Given the description of an element on the screen output the (x, y) to click on. 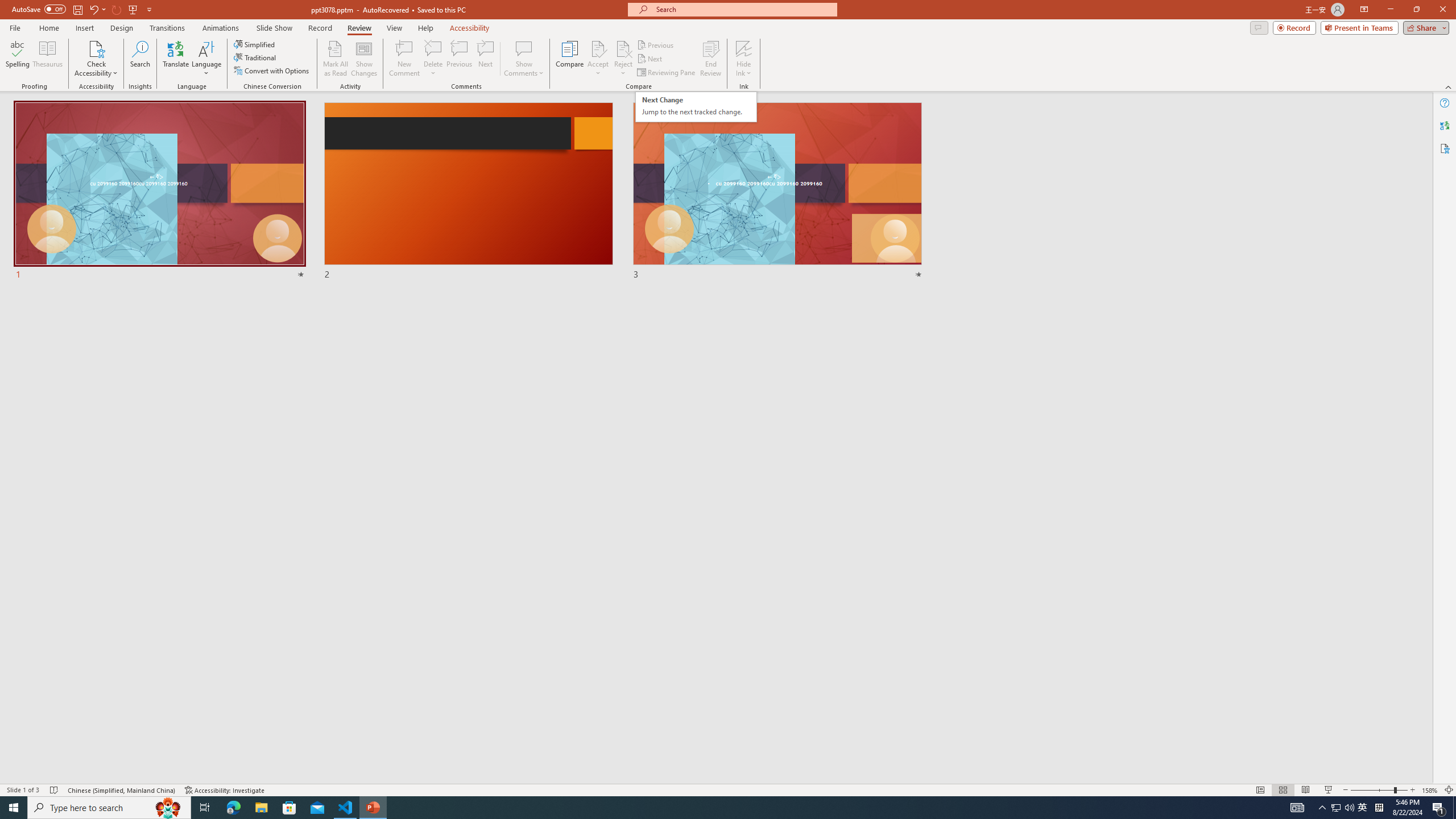
Reviewing Pane (666, 72)
Reject (622, 58)
